Given the description of an element on the screen output the (x, y) to click on. 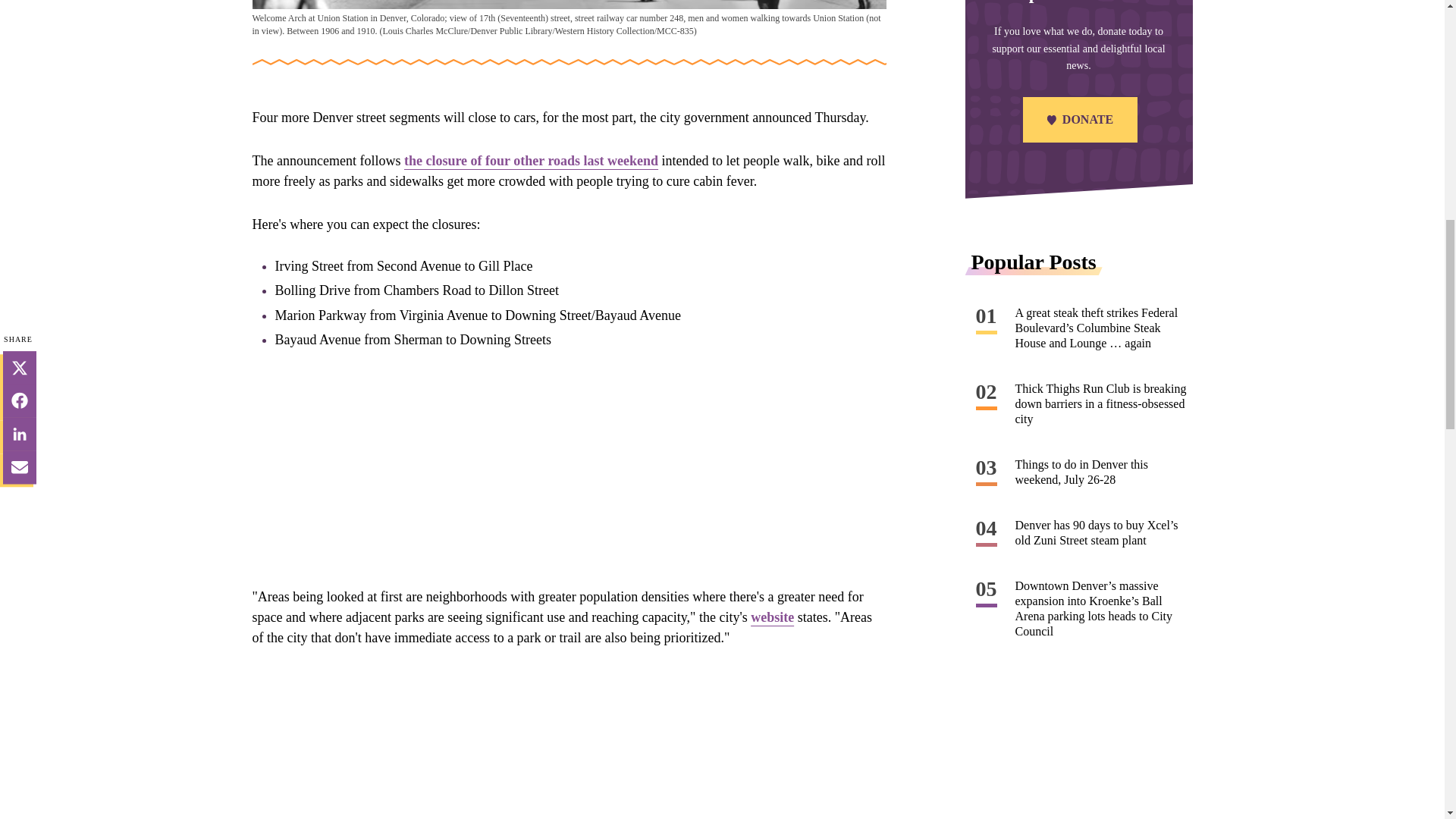
DONATE (1078, 121)
website (772, 616)
the closure of four other roads last weekend (531, 160)
